Given the description of an element on the screen output the (x, y) to click on. 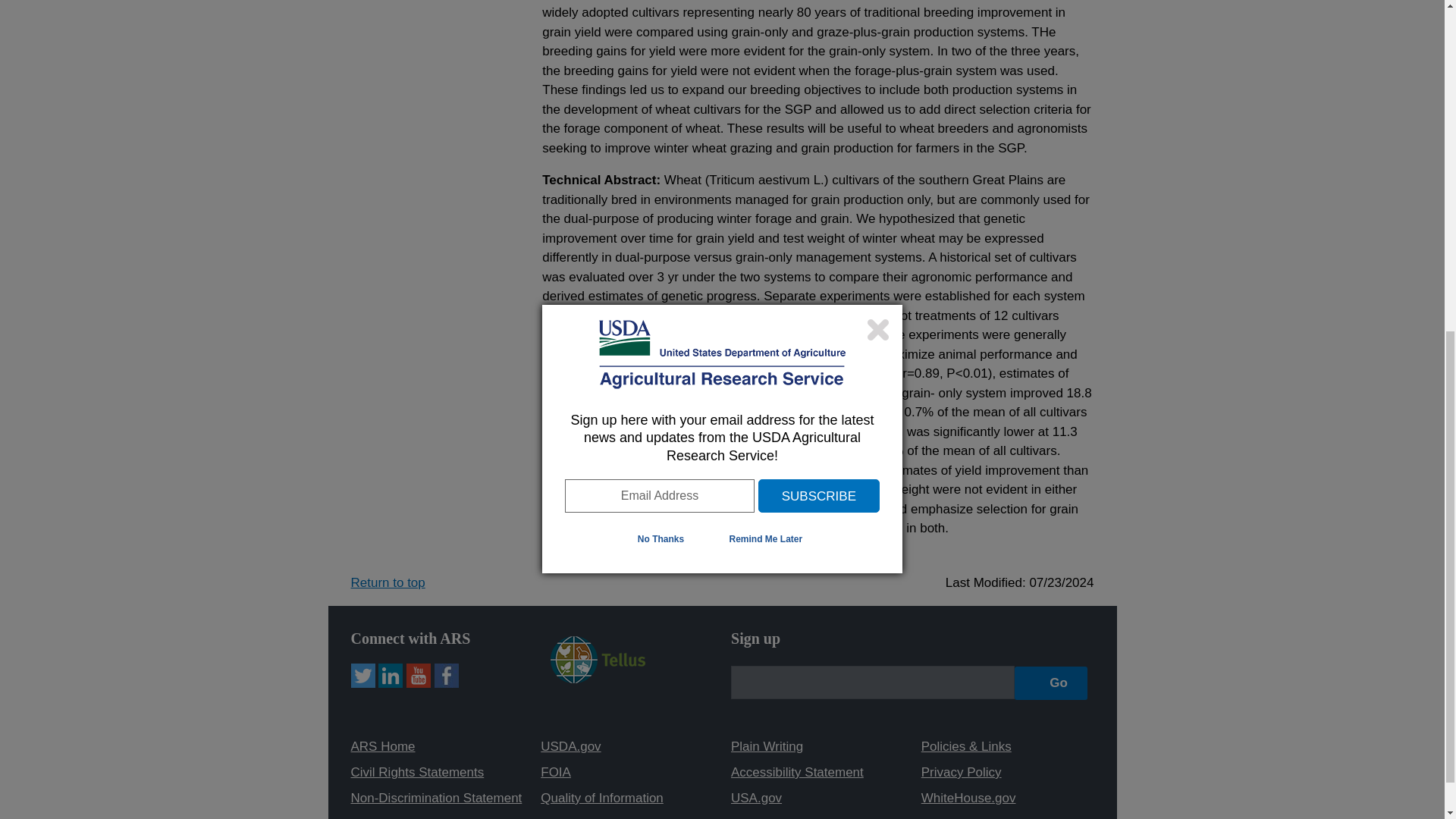
Tellus (597, 658)
email (872, 682)
LinkedIn (390, 674)
Tellus (597, 678)
Go (1050, 682)
Facebook Icon (445, 674)
Twitter (362, 674)
Youtube (418, 674)
